Given the description of an element on the screen output the (x, y) to click on. 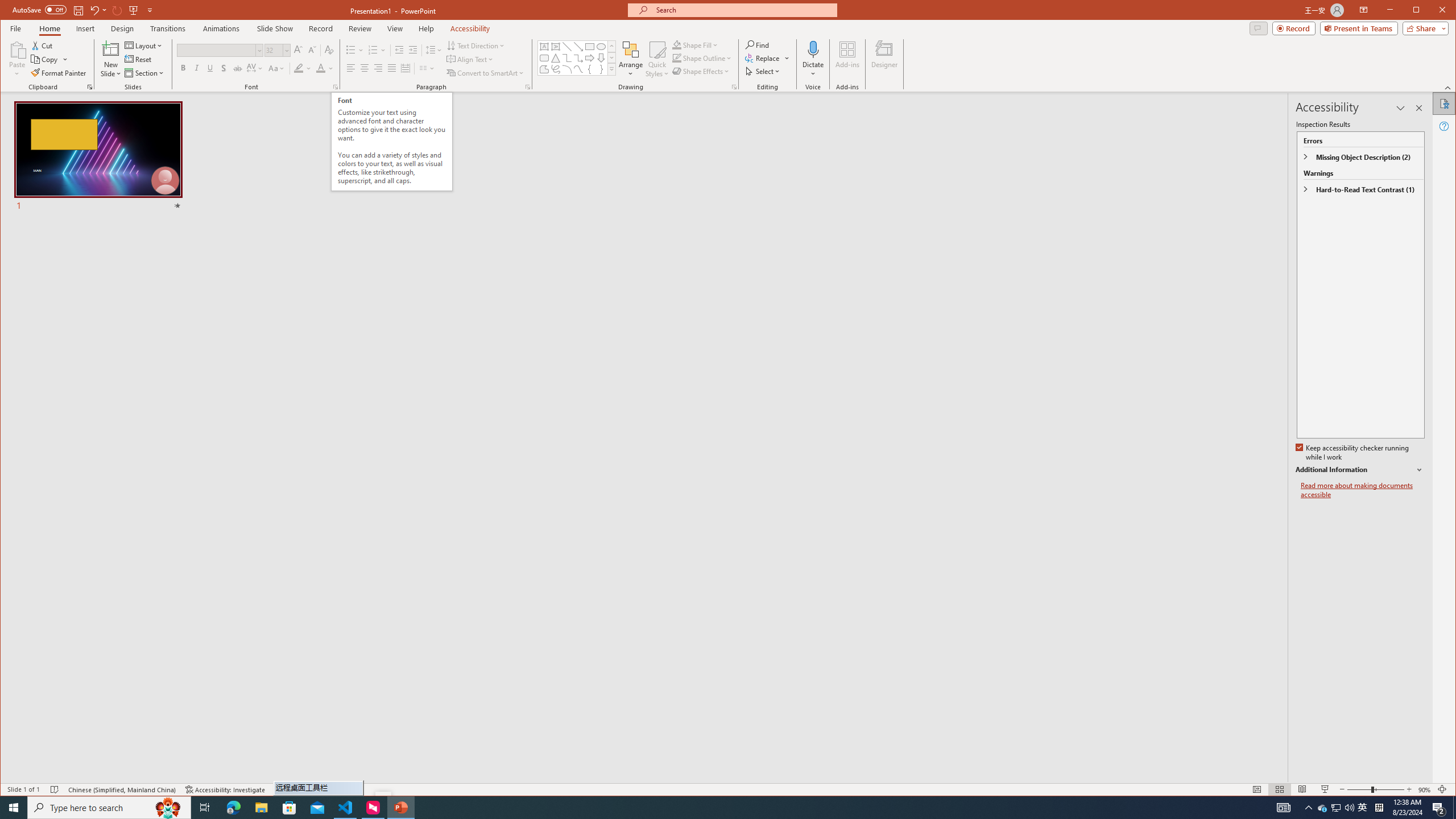
Maximize (1432, 11)
